Given the description of an element on the screen output the (x, y) to click on. 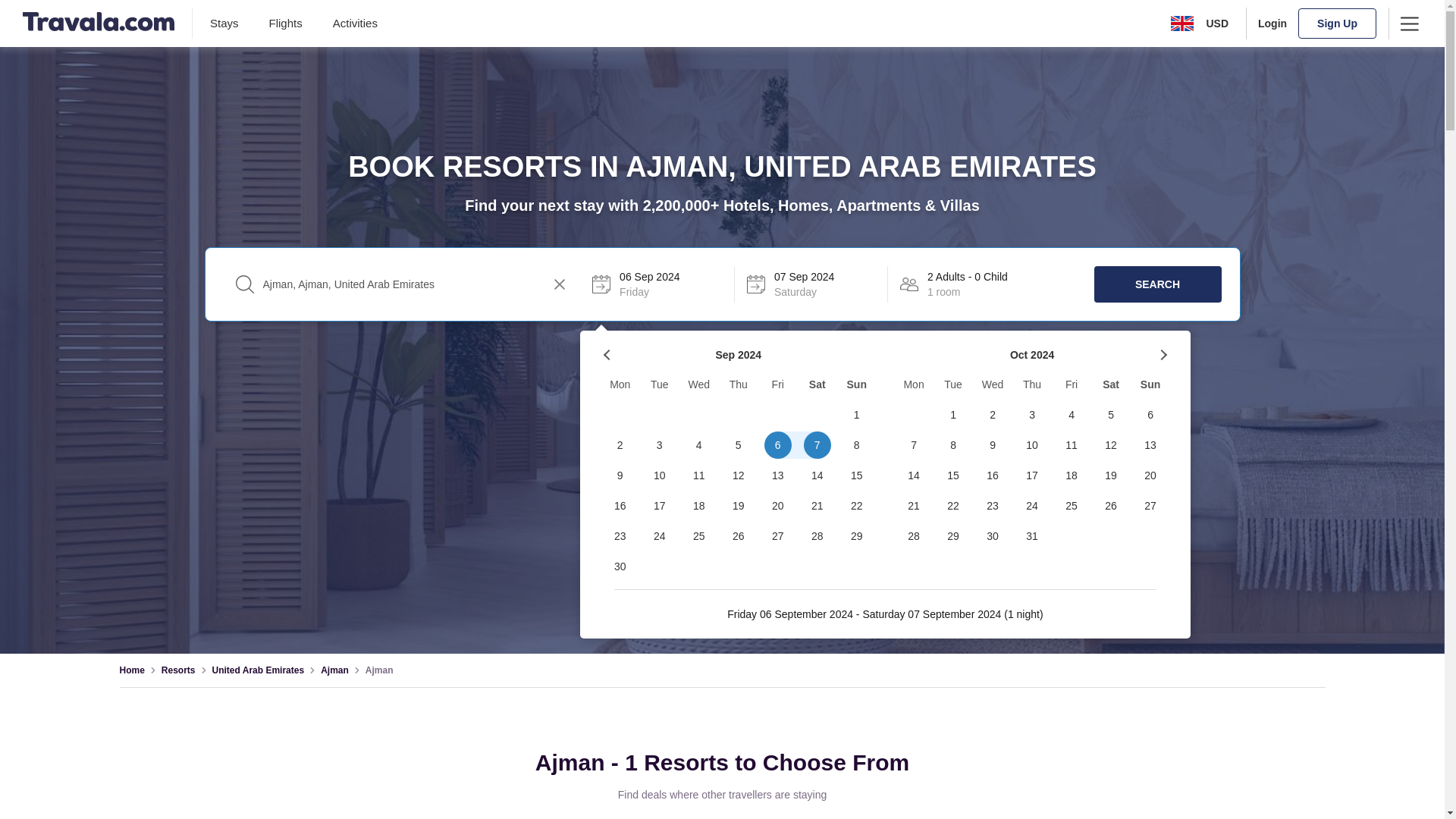
Activities (355, 22)
Sign Up (1336, 23)
26 (738, 535)
22 (856, 505)
17 (659, 505)
25 (699, 535)
13 (777, 475)
24 (659, 535)
5 (738, 444)
23 (619, 535)
